Given the description of an element on the screen output the (x, y) to click on. 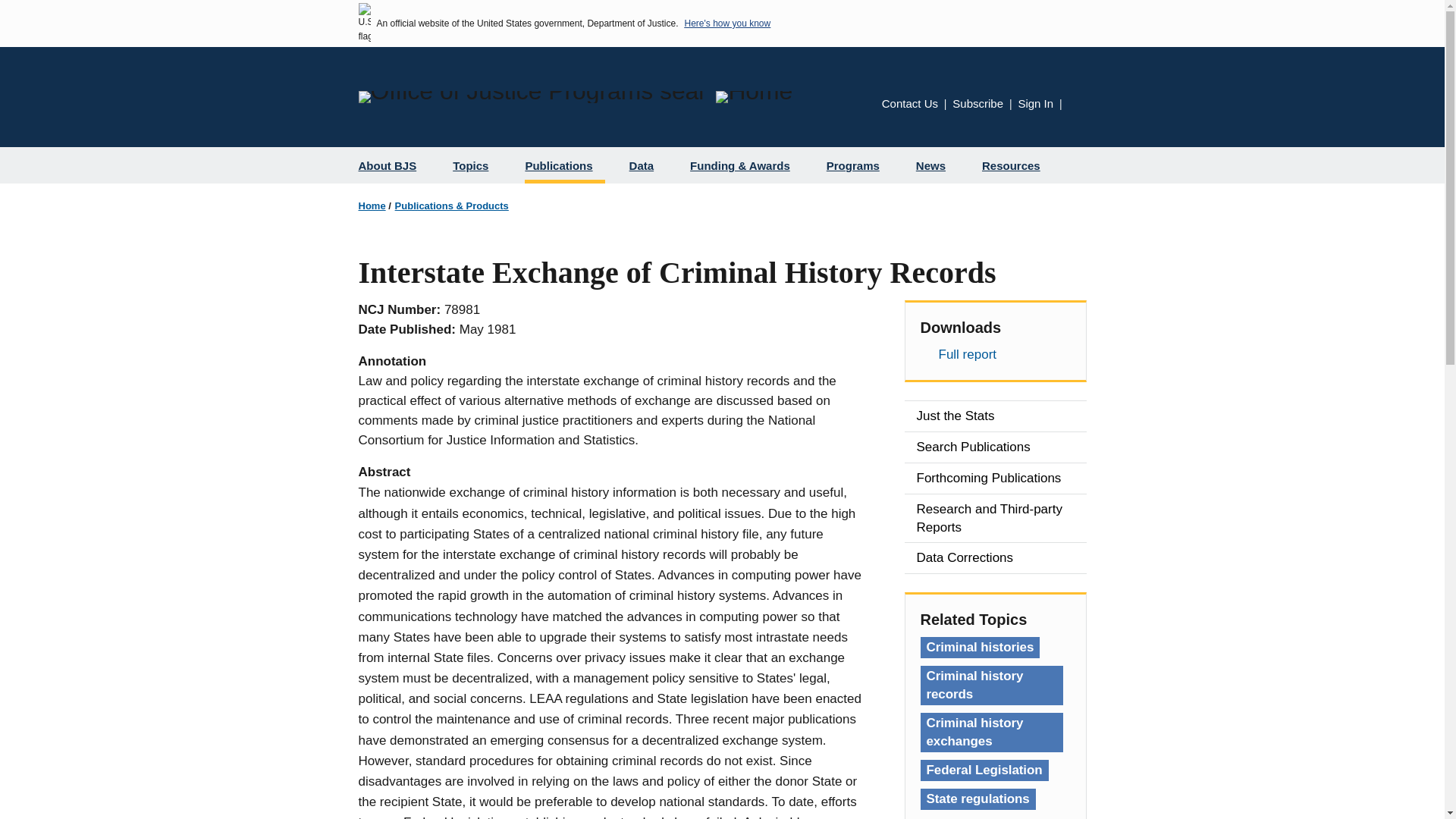
Search Publications (995, 447)
Choose a social sharing platform (1076, 106)
Just the Stats (995, 416)
Subscribe (977, 103)
Research and Third-party Reports (995, 518)
Office of Justice Programs (530, 96)
Criminal history exchanges (991, 732)
Federal Legislation (984, 770)
Forthcoming Publications (995, 478)
Programs (858, 165)
